Given the description of an element on the screen output the (x, y) to click on. 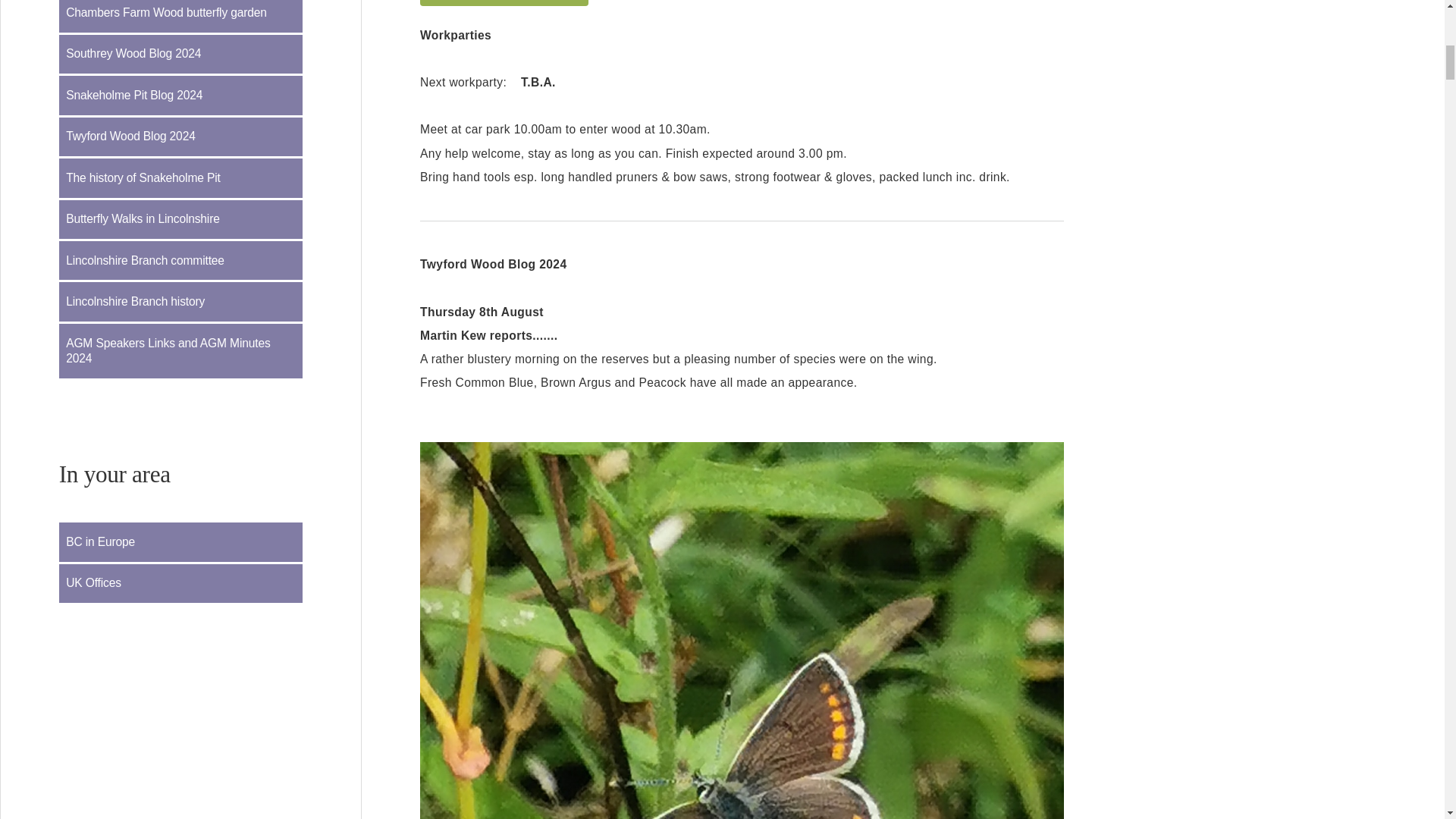
BC in Europe (180, 541)
Twyford Wood Blog 2024 (180, 136)
Snakeholme Pit Blog 2024 (180, 95)
The history of Snakeholme Pit (180, 177)
Lincolnshire Branch history (180, 301)
Southrey Wood Blog 2024 (180, 54)
Chambers Farm Wood butterfly garden (180, 15)
Twyford Blog 2023 (504, 2)
AGM Speakers Links and AGM Minutes 2024 (180, 350)
UK Offices (180, 583)
